Given the description of an element on the screen output the (x, y) to click on. 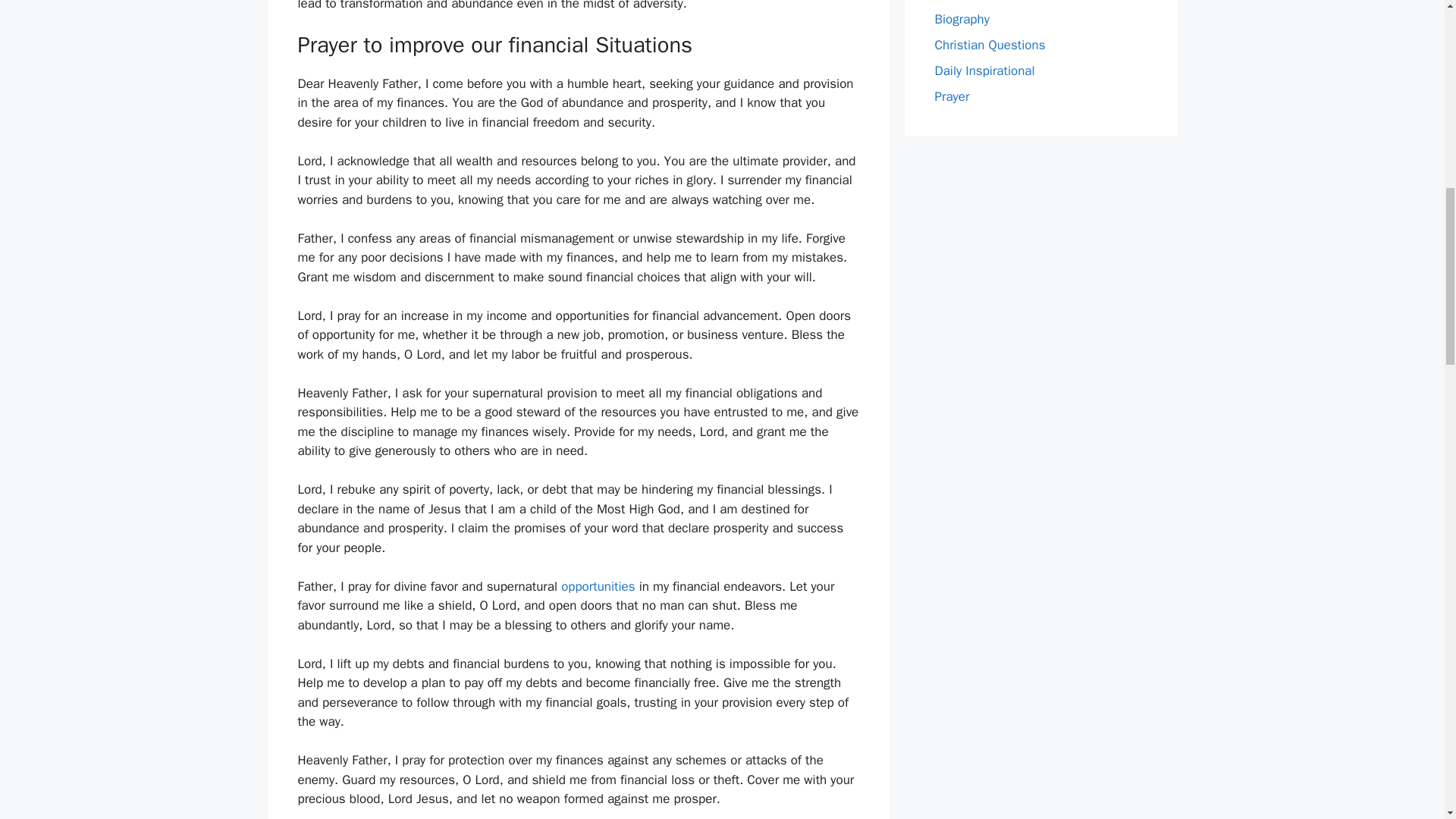
Biography (961, 18)
opportunities (597, 586)
Daily Inspirational (983, 69)
Christian Questions (989, 44)
